Given the description of an element on the screen output the (x, y) to click on. 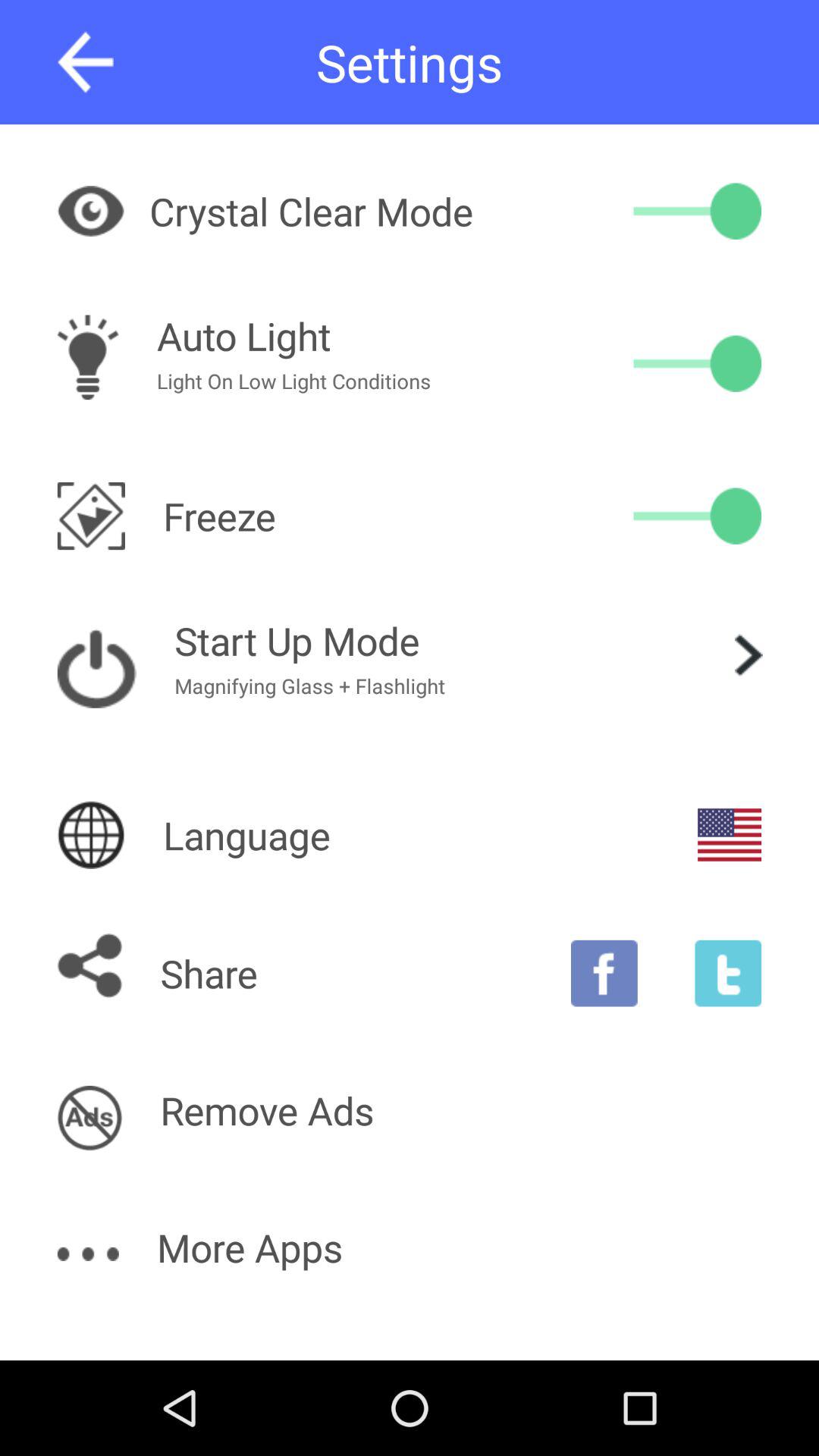
go back from settings (85, 62)
